Given the description of an element on the screen output the (x, y) to click on. 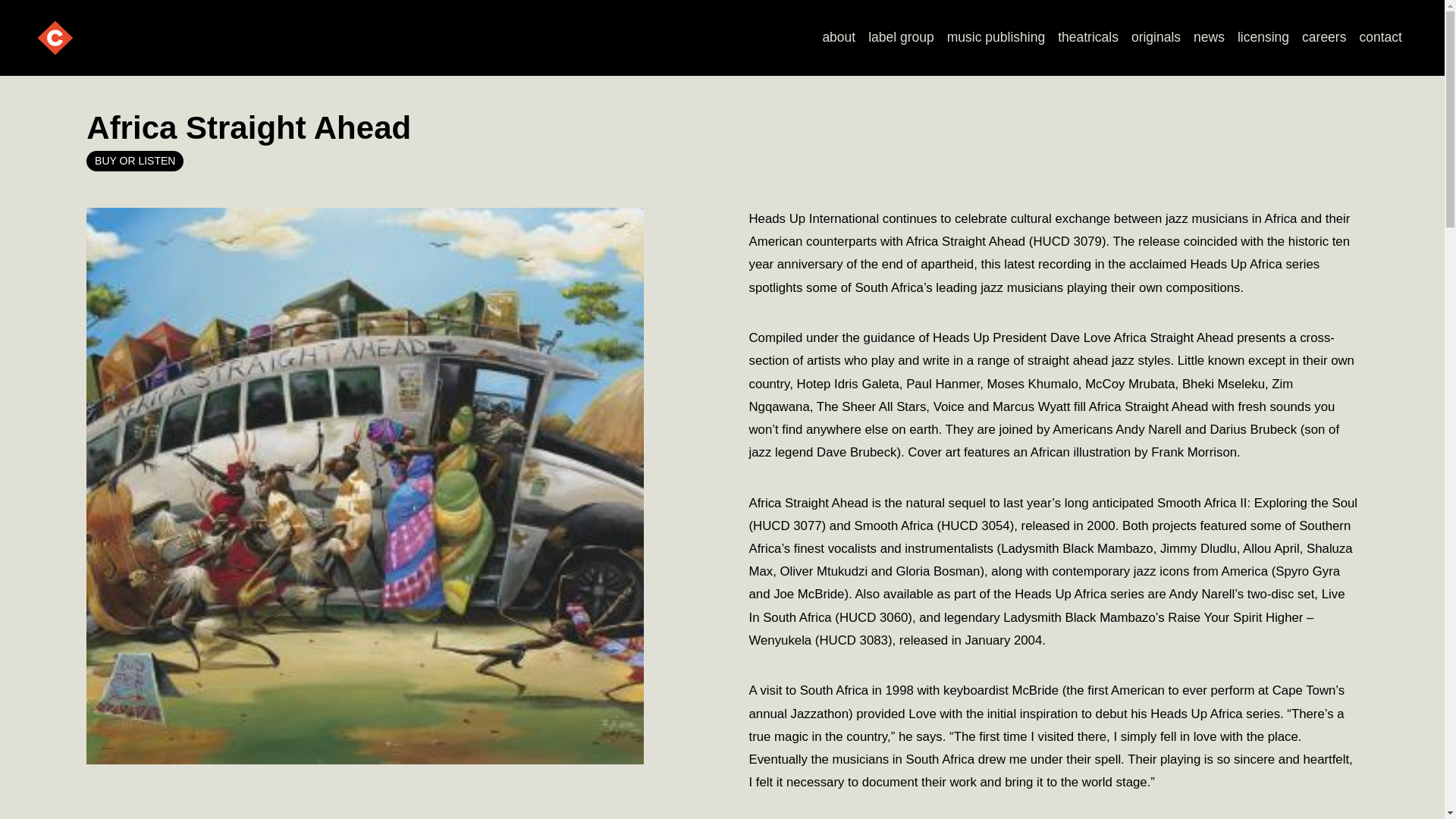
news (1209, 38)
label group (900, 38)
theatricals (1088, 38)
originals (1155, 38)
careers (1323, 38)
contact (1379, 38)
licensing (1262, 38)
music publishing (995, 38)
about (838, 38)
